Given the description of an element on the screen output the (x, y) to click on. 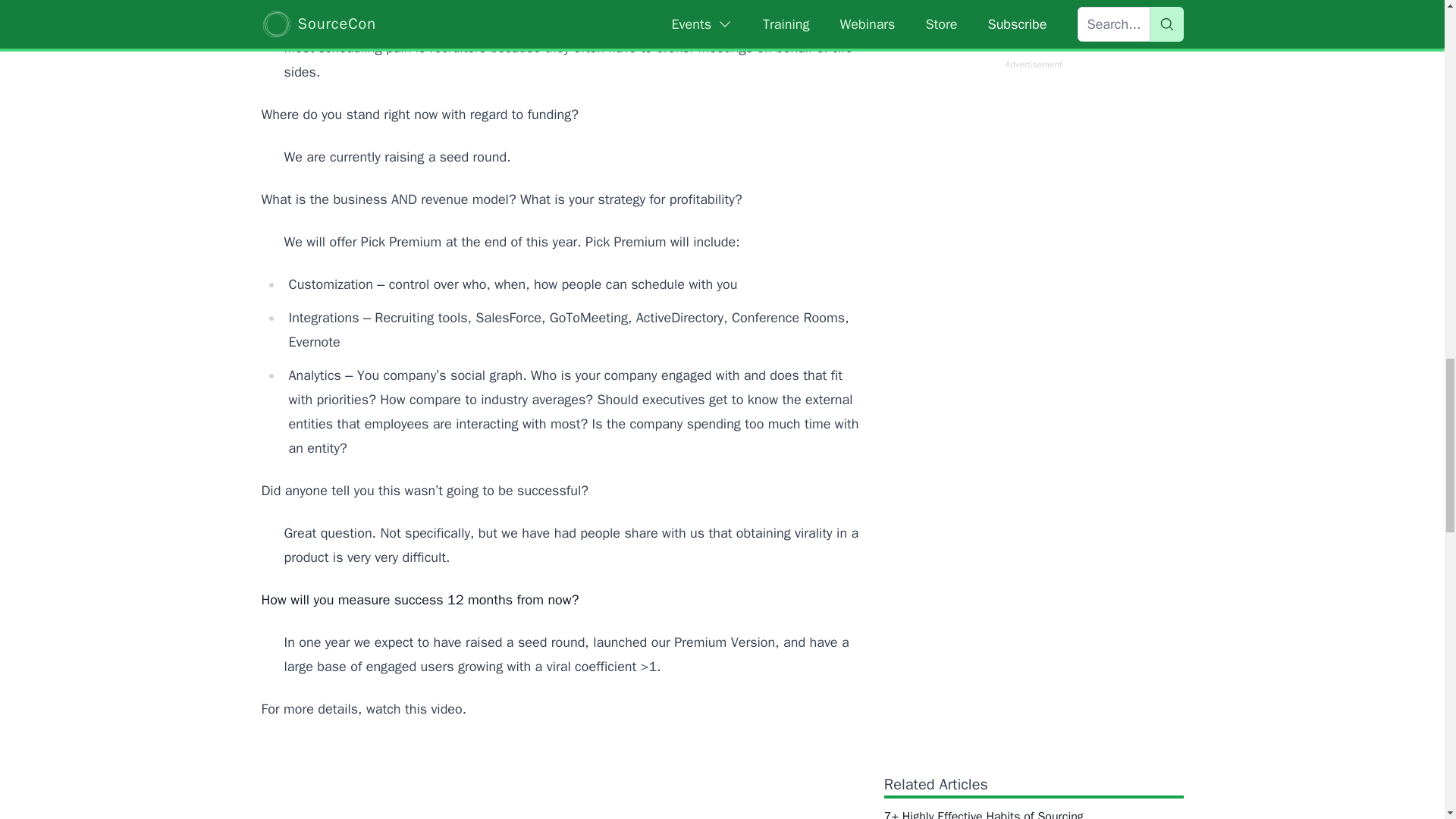
PICK (559, 778)
